Given the description of an element on the screen output the (x, y) to click on. 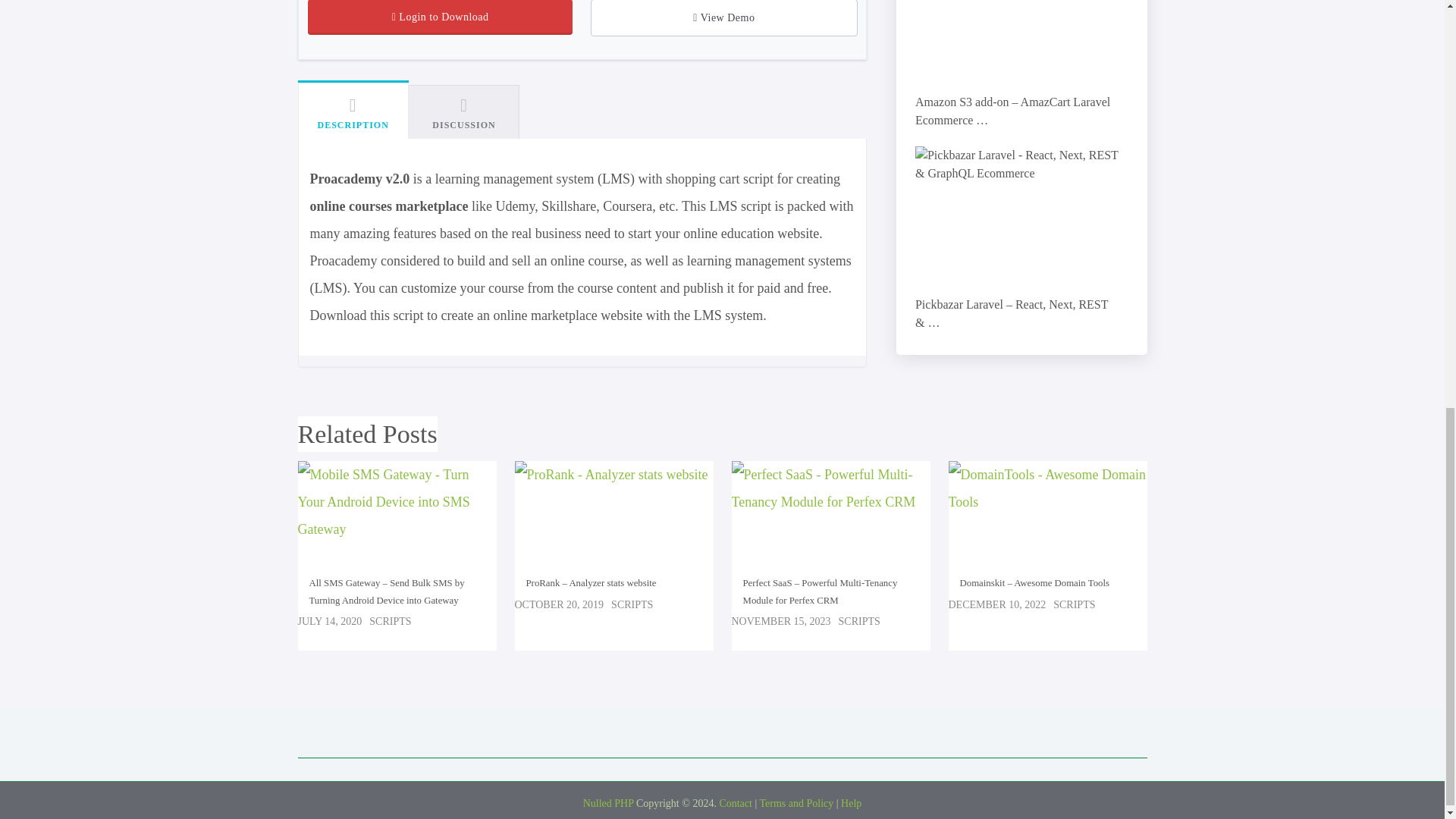
DISCUSSION (464, 112)
DESCRIPTION (352, 109)
View Demo (724, 18)
View Demo (724, 18)
Login to Download (439, 17)
Download link are locked (439, 17)
